Given the description of an element on the screen output the (x, y) to click on. 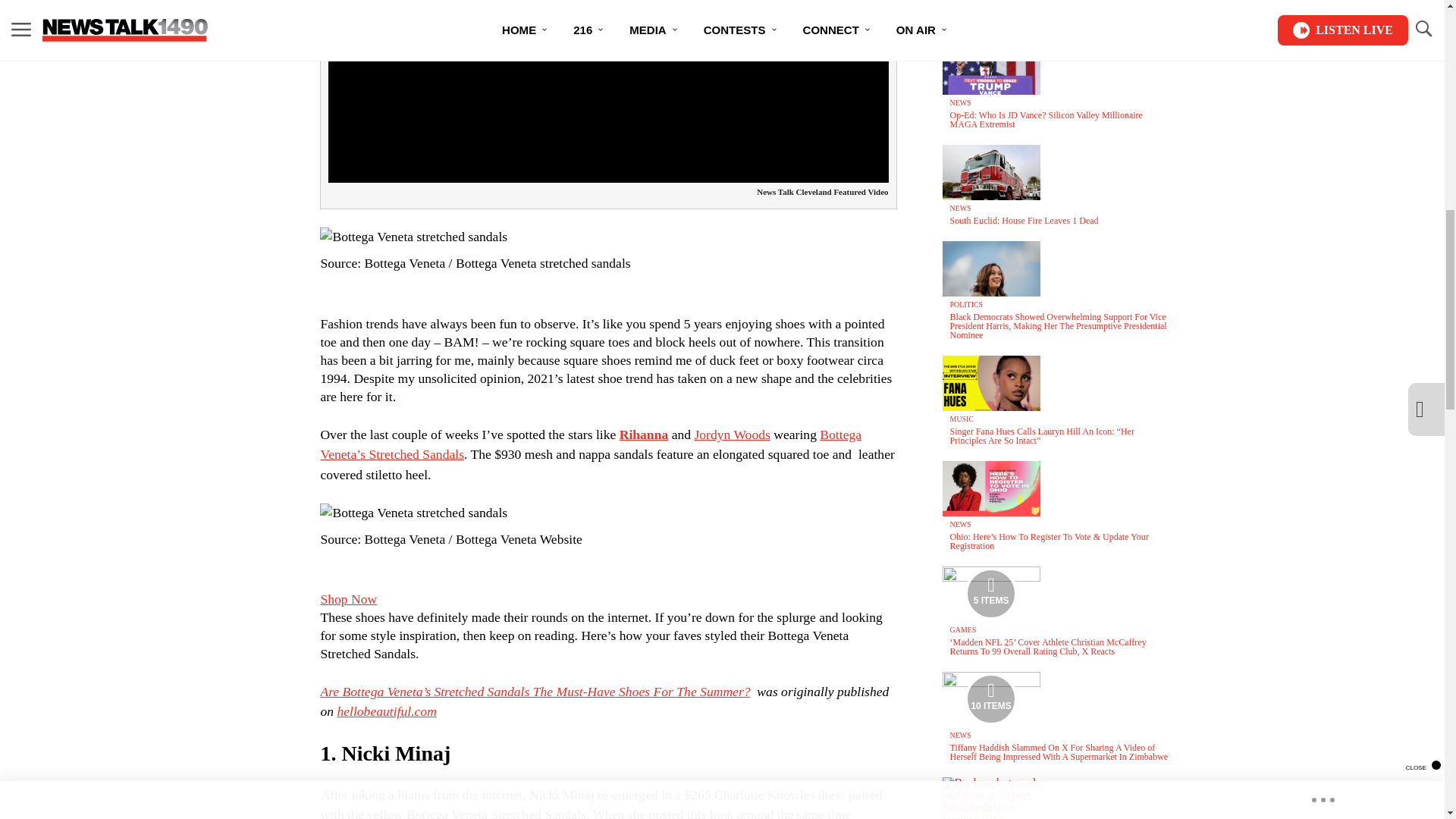
Shop Now (348, 598)
Shop Now (348, 598)
Media Playlist (990, 698)
hellobeautiful.com (385, 711)
Rihanna (644, 434)
Jordyn Woods (732, 434)
Media Playlist (990, 593)
